Given the description of an element on the screen output the (x, y) to click on. 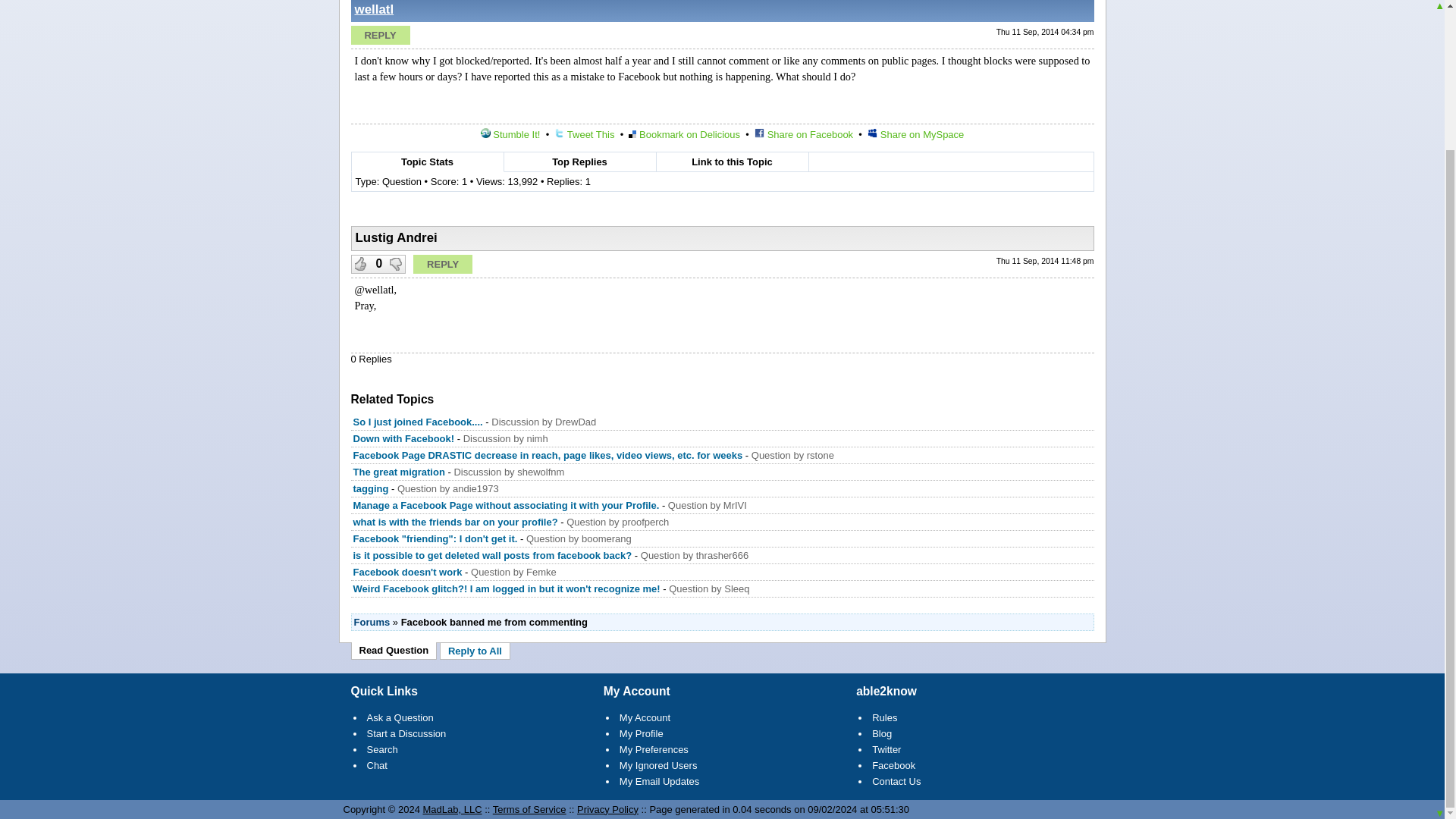
Start a Discussion (406, 733)
tagging (370, 488)
wellatl (374, 9)
So I just joined Facebook.... (418, 421)
Facebook "friending": I don't get it. (435, 538)
Reply (442, 263)
Tweet This (584, 134)
